Given the description of an element on the screen output the (x, y) to click on. 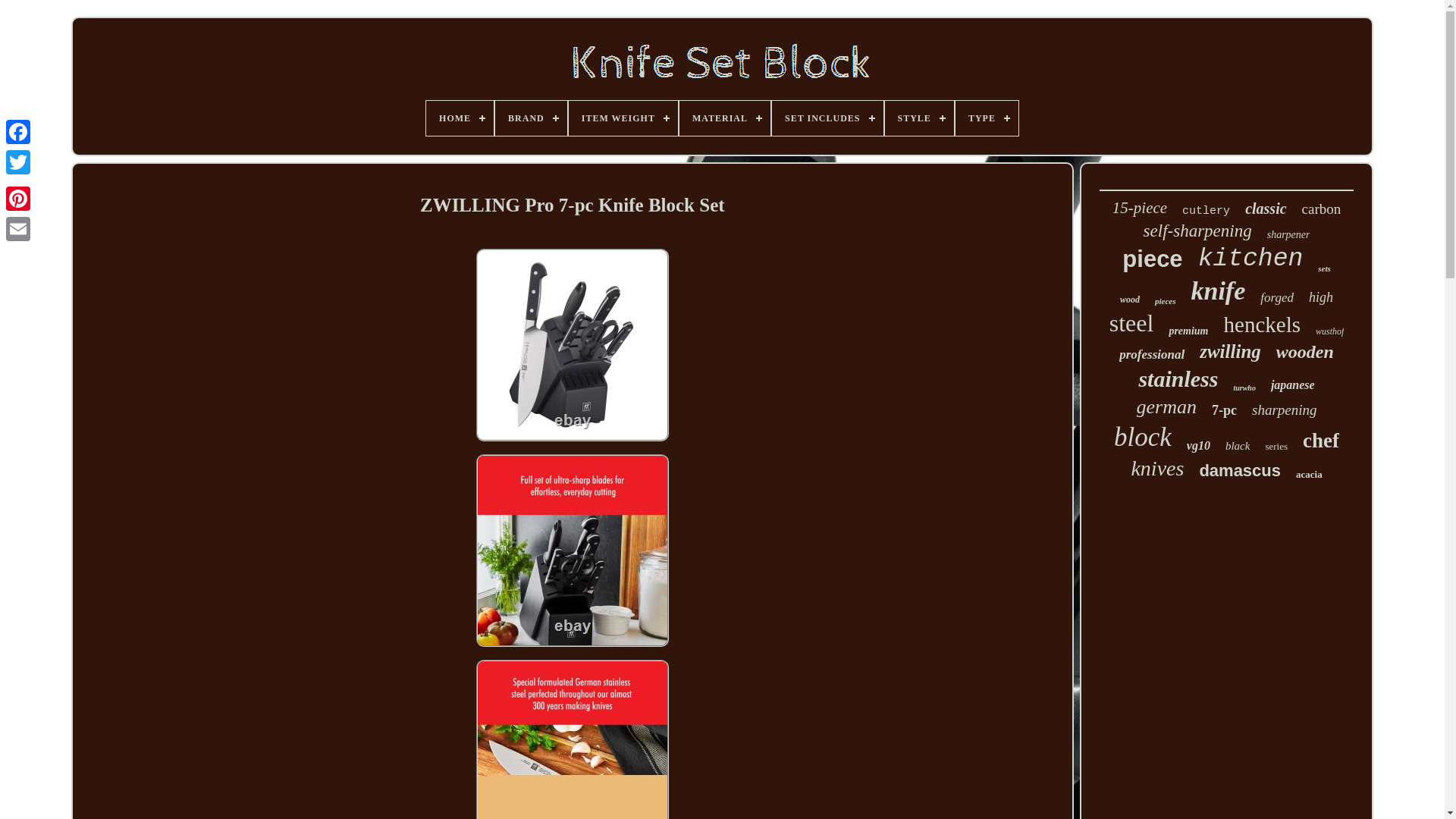
HOME (459, 117)
ITEM WEIGHT (623, 117)
BRAND (531, 117)
ZWILLING Pro 7-pc Knife Block Set (572, 344)
ZWILLING Pro 7-pc Knife Block Set (572, 739)
MATERIAL (724, 117)
ZWILLING Pro 7-pc Knife Block Set (572, 549)
